Given the description of an element on the screen output the (x, y) to click on. 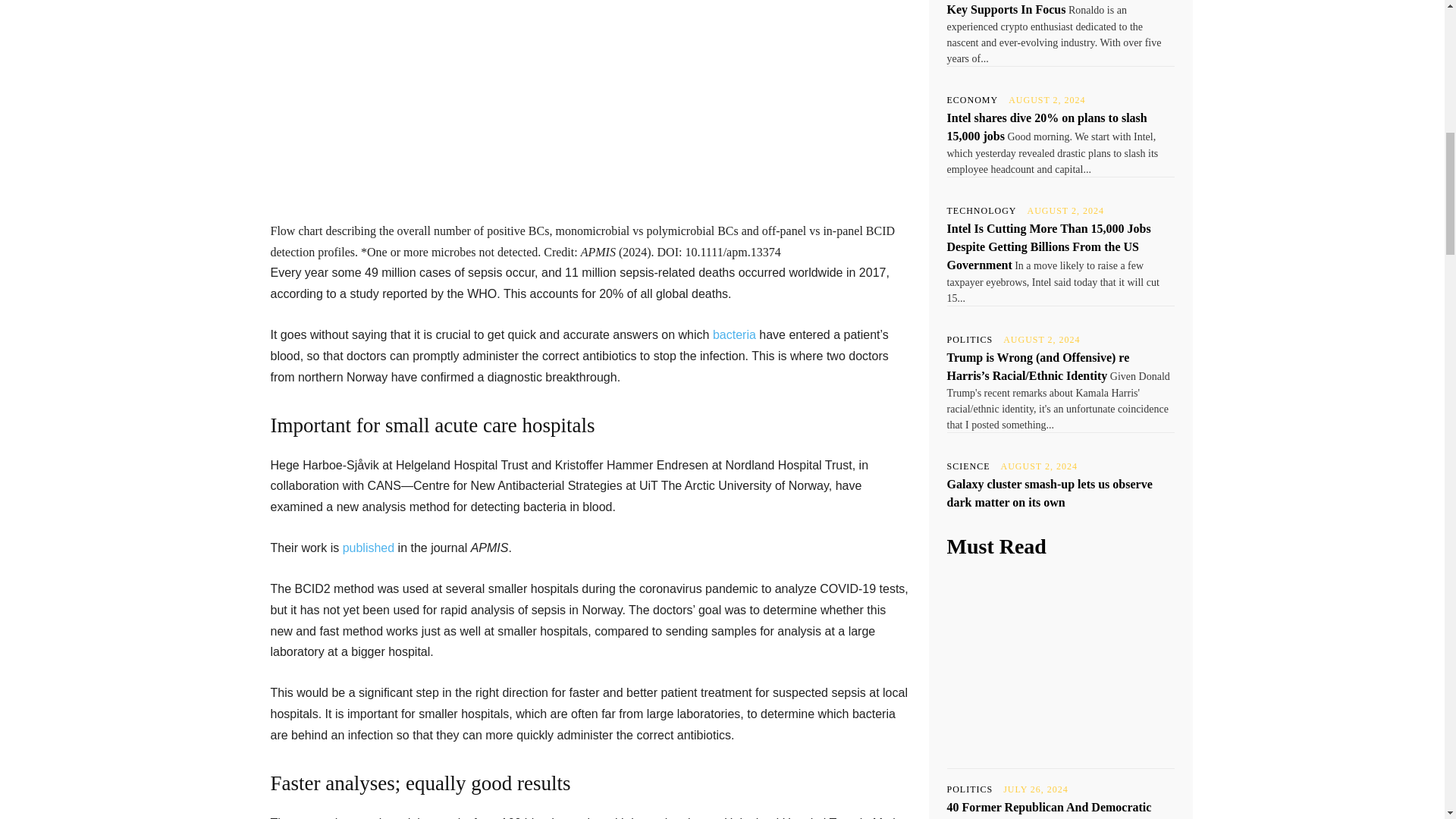
published (368, 547)
bacteria (734, 334)
